Given the description of an element on the screen output the (x, y) to click on. 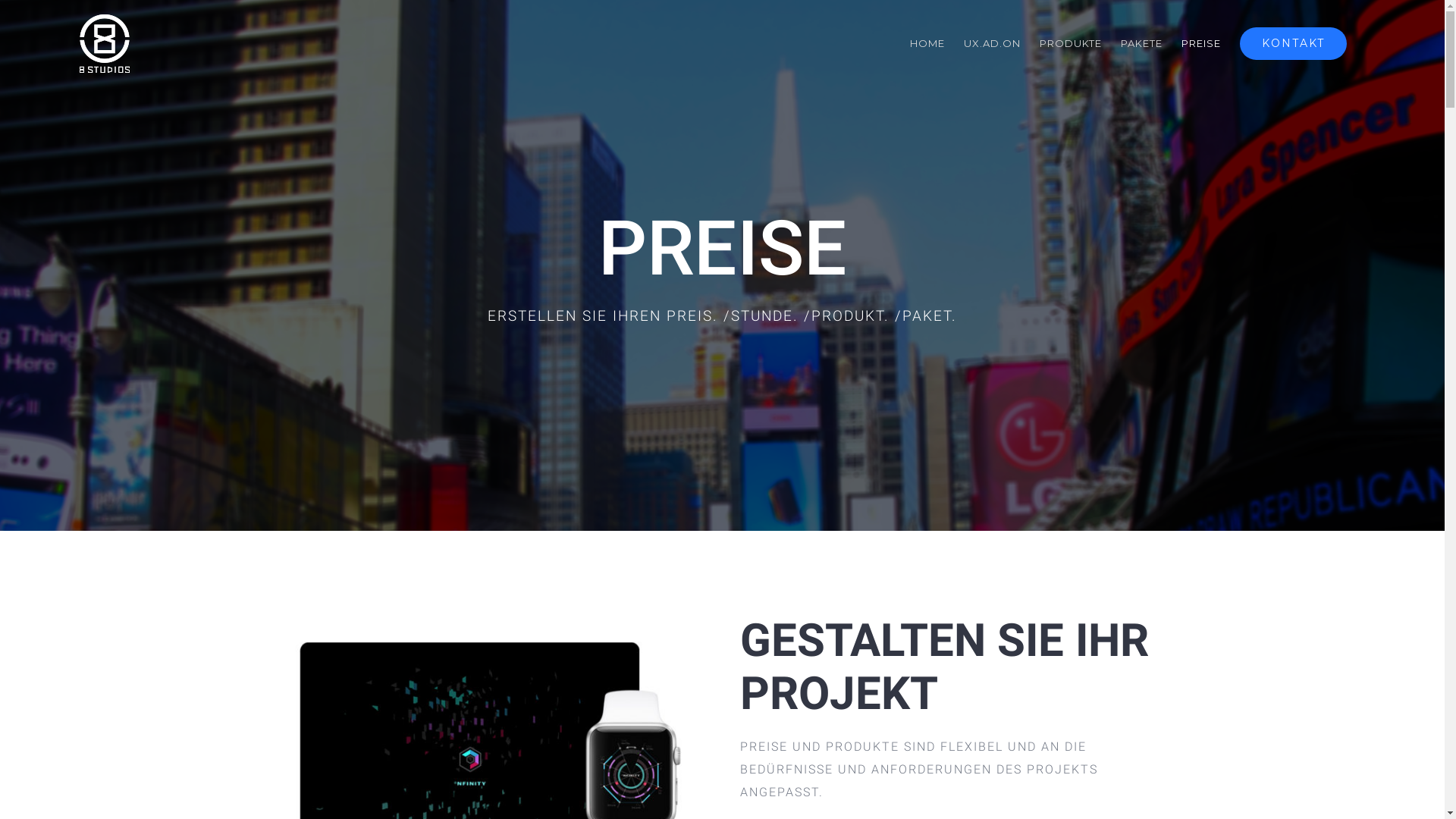
HOME Element type: text (927, 42)
UX.AD.ON Element type: text (991, 42)
PREISE Element type: text (1200, 42)
KONTAKT Element type: text (1292, 42)
PAKETE Element type: text (1141, 42)
PRODUKTE Element type: text (1070, 42)
